Given the description of an element on the screen output the (x, y) to click on. 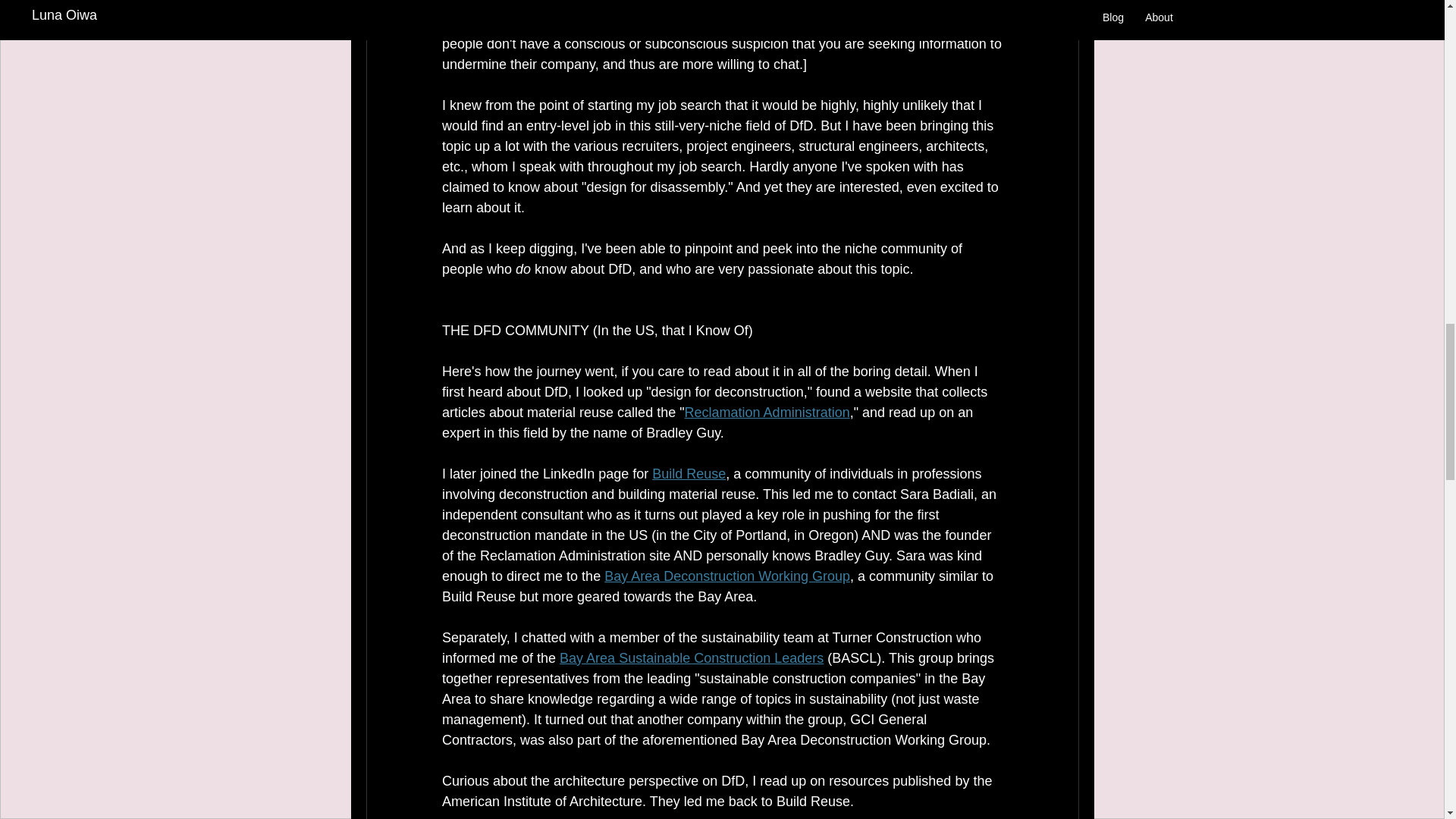
Bay Area Sustainable Construction Leaders (691, 657)
Reclamation Administration (766, 412)
Bay Area Deconstruction Working Group (727, 575)
Build Reuse (688, 473)
